Given the description of an element on the screen output the (x, y) to click on. 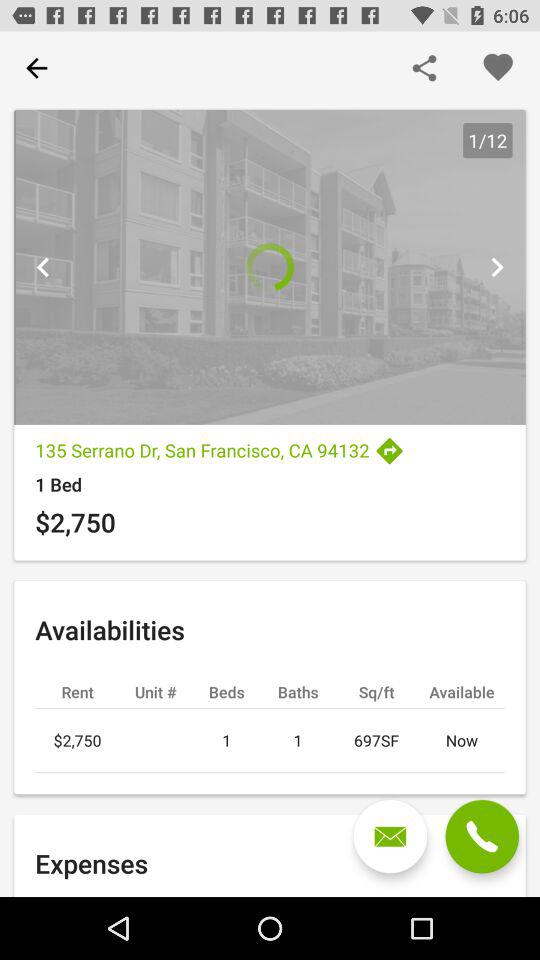
share the article (424, 68)
